Given the description of an element on the screen output the (x, y) to click on. 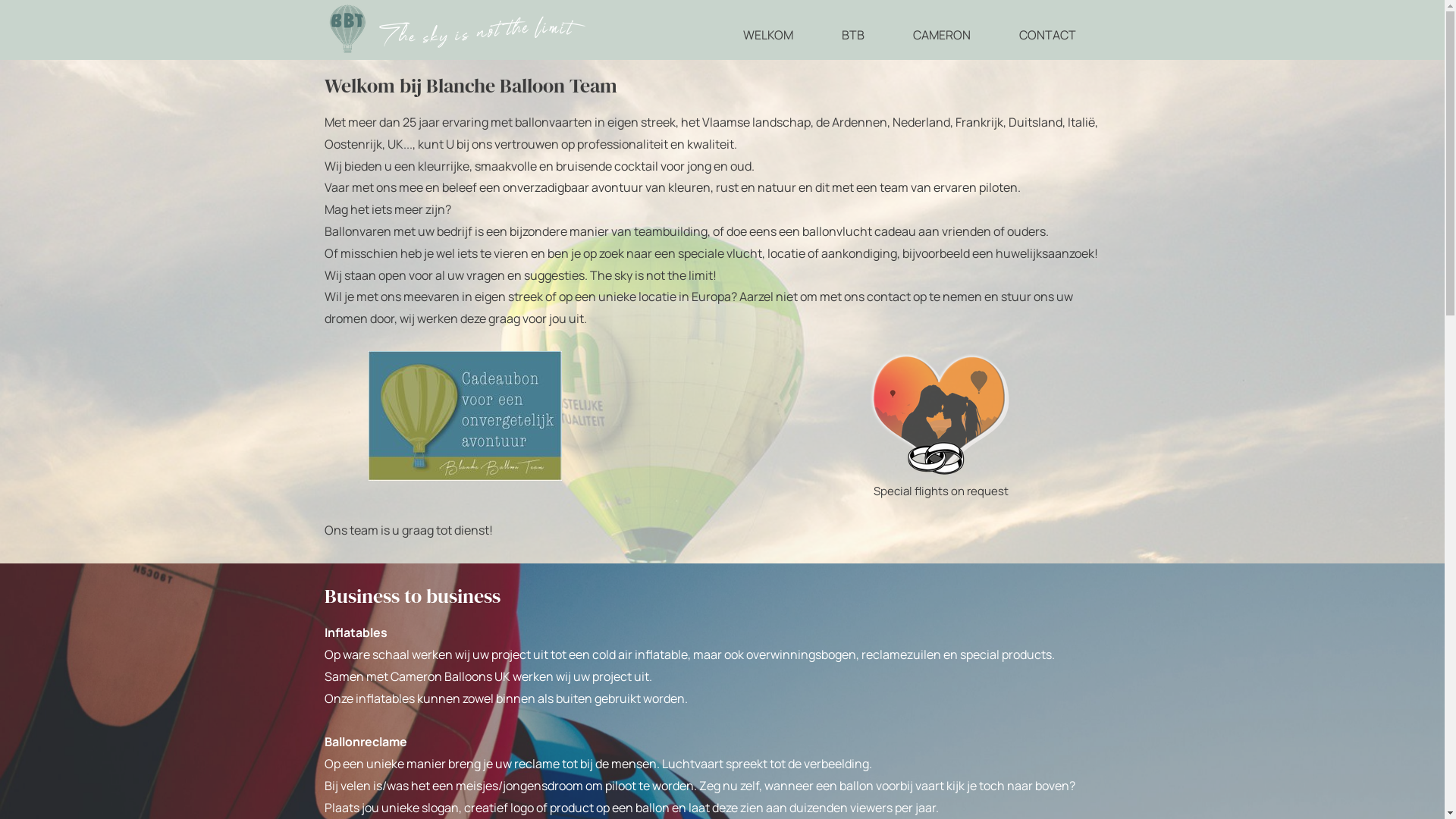
CONTACT Element type: text (1047, 34)
BTB Element type: text (852, 34)
CAMERON Element type: text (941, 34)
WELKOM Element type: text (768, 34)
